Given the description of an element on the screen output the (x, y) to click on. 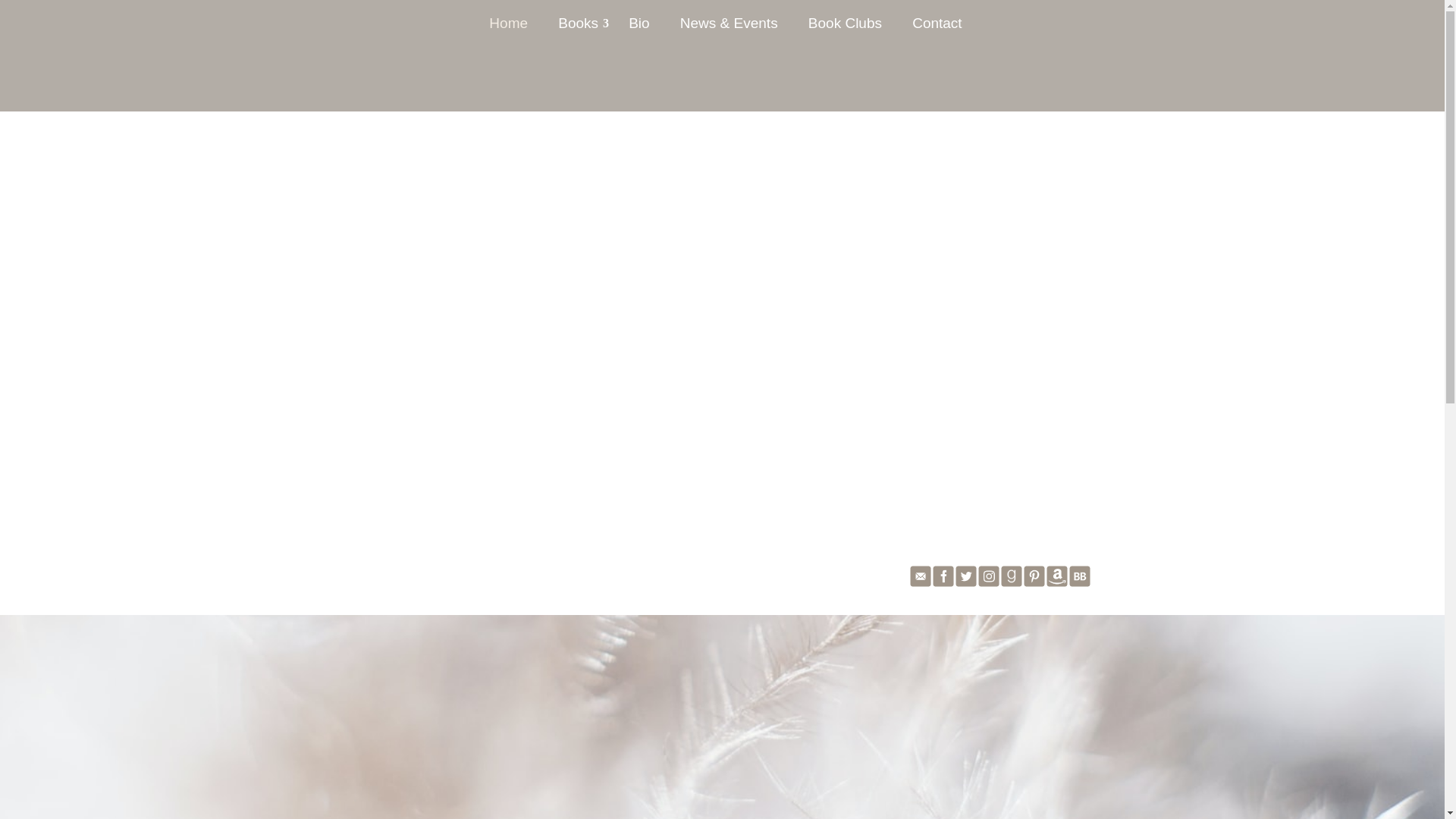
Bio (638, 31)
Contact (936, 31)
Home (507, 31)
Books (578, 31)
Book Clubs (845, 31)
